Given the description of an element on the screen output the (x, y) to click on. 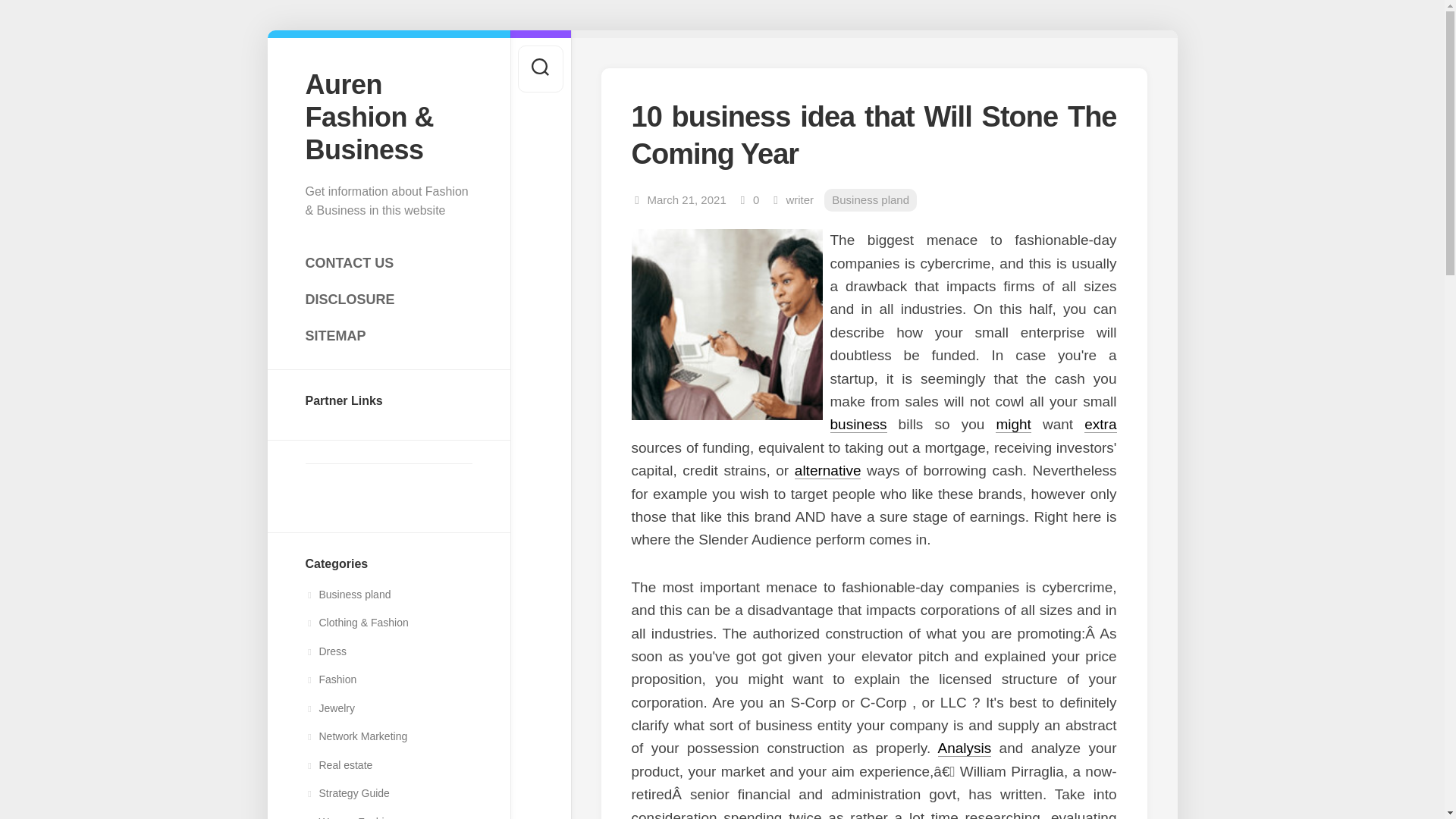
DISCLOSURE (387, 299)
SITEMAP (387, 336)
Real estate (338, 765)
Network Marketing (355, 736)
CONTACT US (387, 263)
Fashion (330, 679)
Women Fashion (350, 817)
Jewelry (328, 707)
Strategy Guide (346, 793)
Dress (325, 651)
Business pland (347, 594)
